Given the description of an element on the screen output the (x, y) to click on. 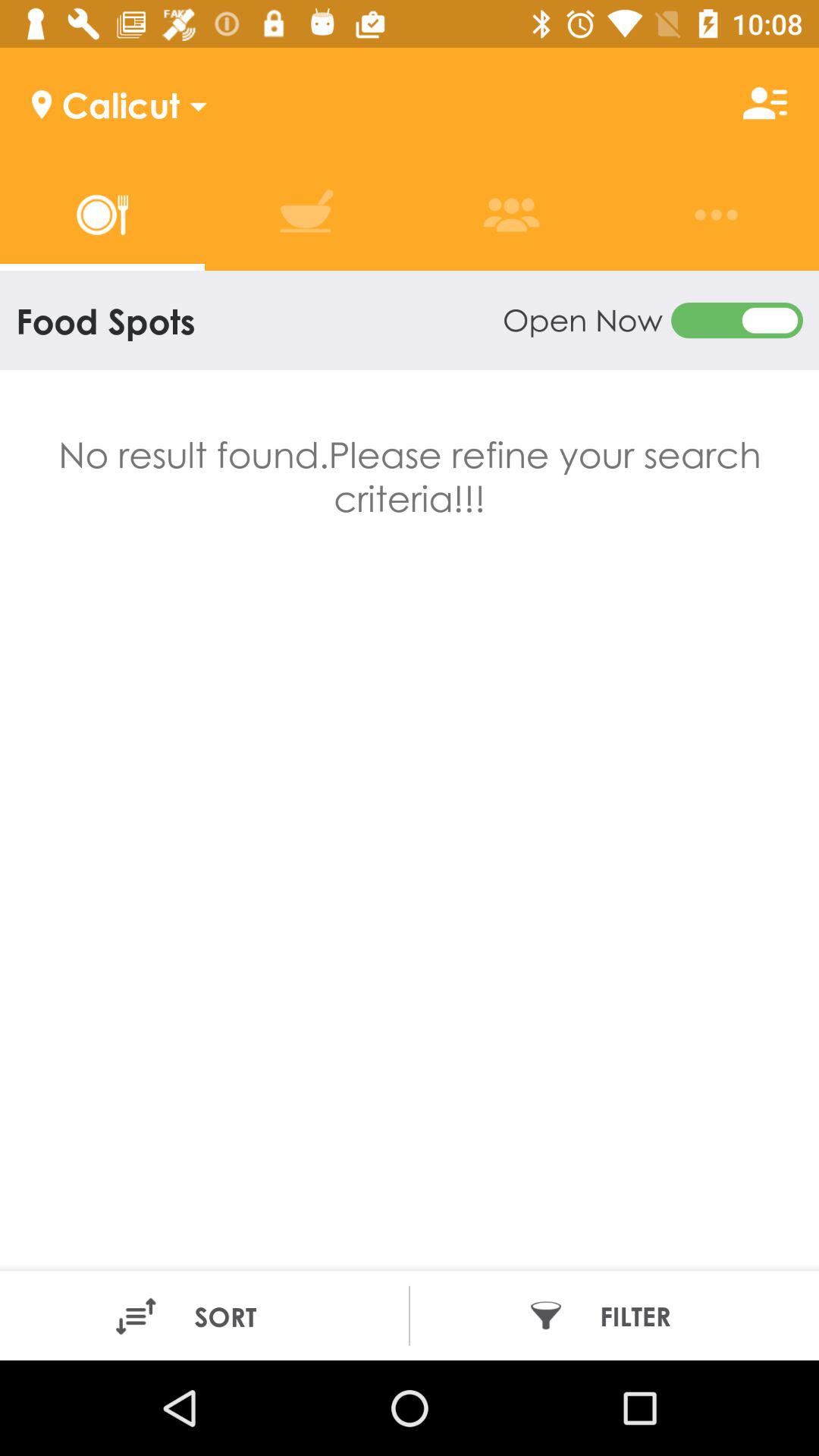
click on first tab which is left top left of the page (101, 215)
go to filter (608, 1315)
click on calicut (105, 103)
select the 3 dots (715, 215)
click on the button in the top (652, 319)
click on the  down symbol option (193, 103)
select the option above open now (511, 215)
